Given the description of an element on the screen output the (x, y) to click on. 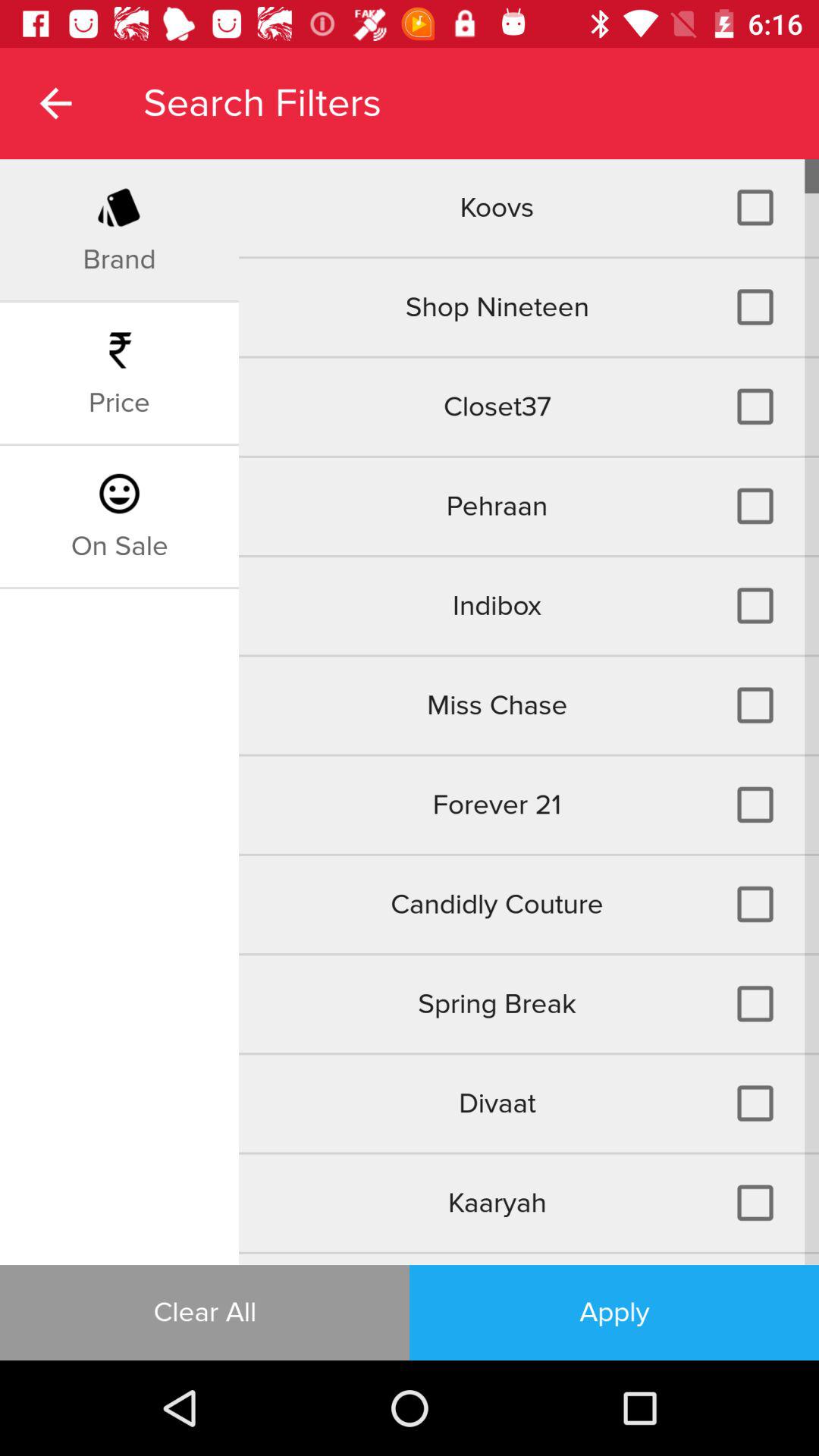
turn off the icon next to koovs (119, 259)
